Given the description of an element on the screen output the (x, y) to click on. 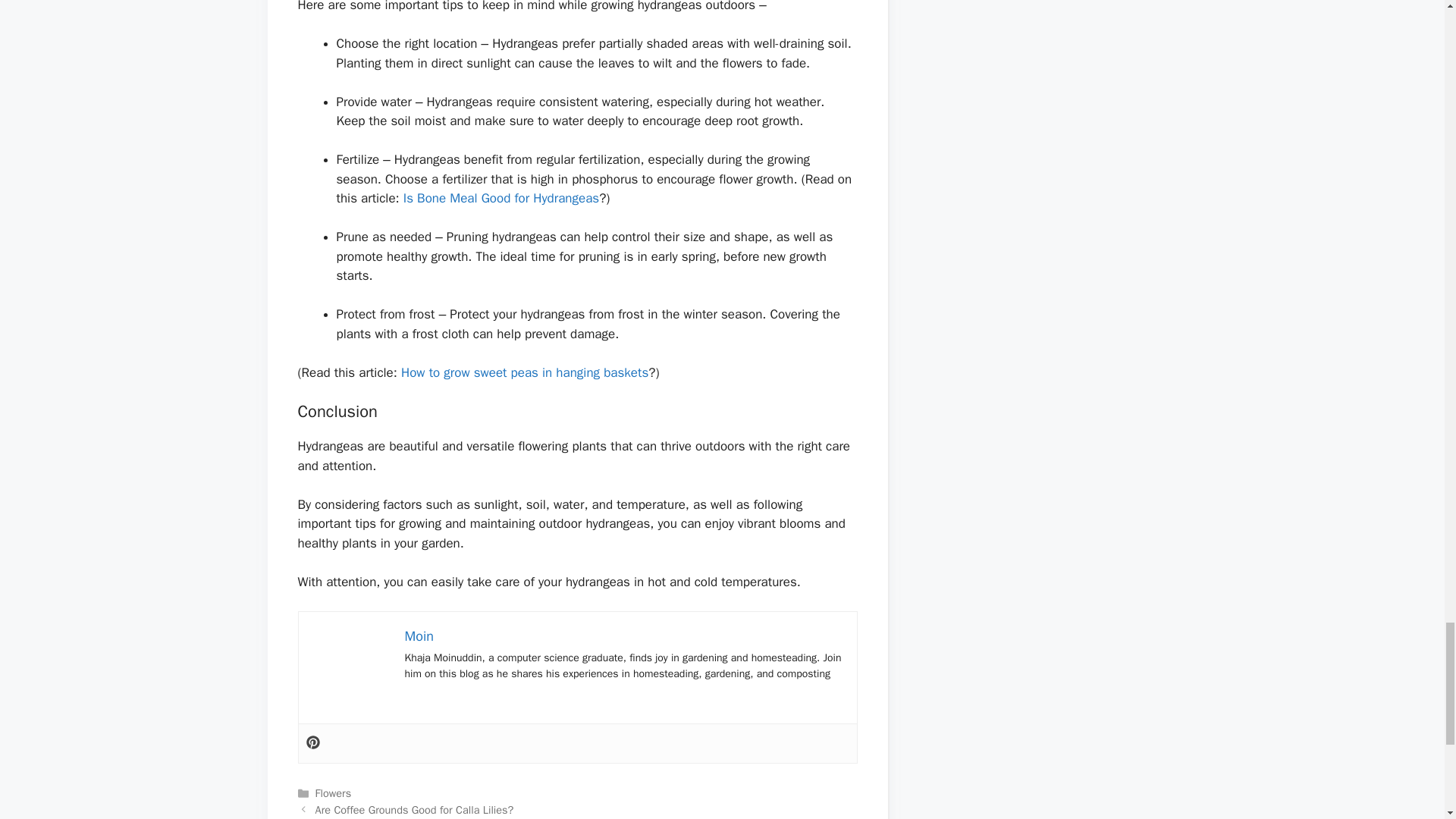
Moin (418, 636)
How to grow sweet peas in hanging baskets (524, 372)
Is Bone Meal Good for Hydrangeas (500, 198)
Are Coffee Grounds Good for Calla Lilies? (414, 809)
Flowers (333, 793)
